Given the description of an element on the screen output the (x, y) to click on. 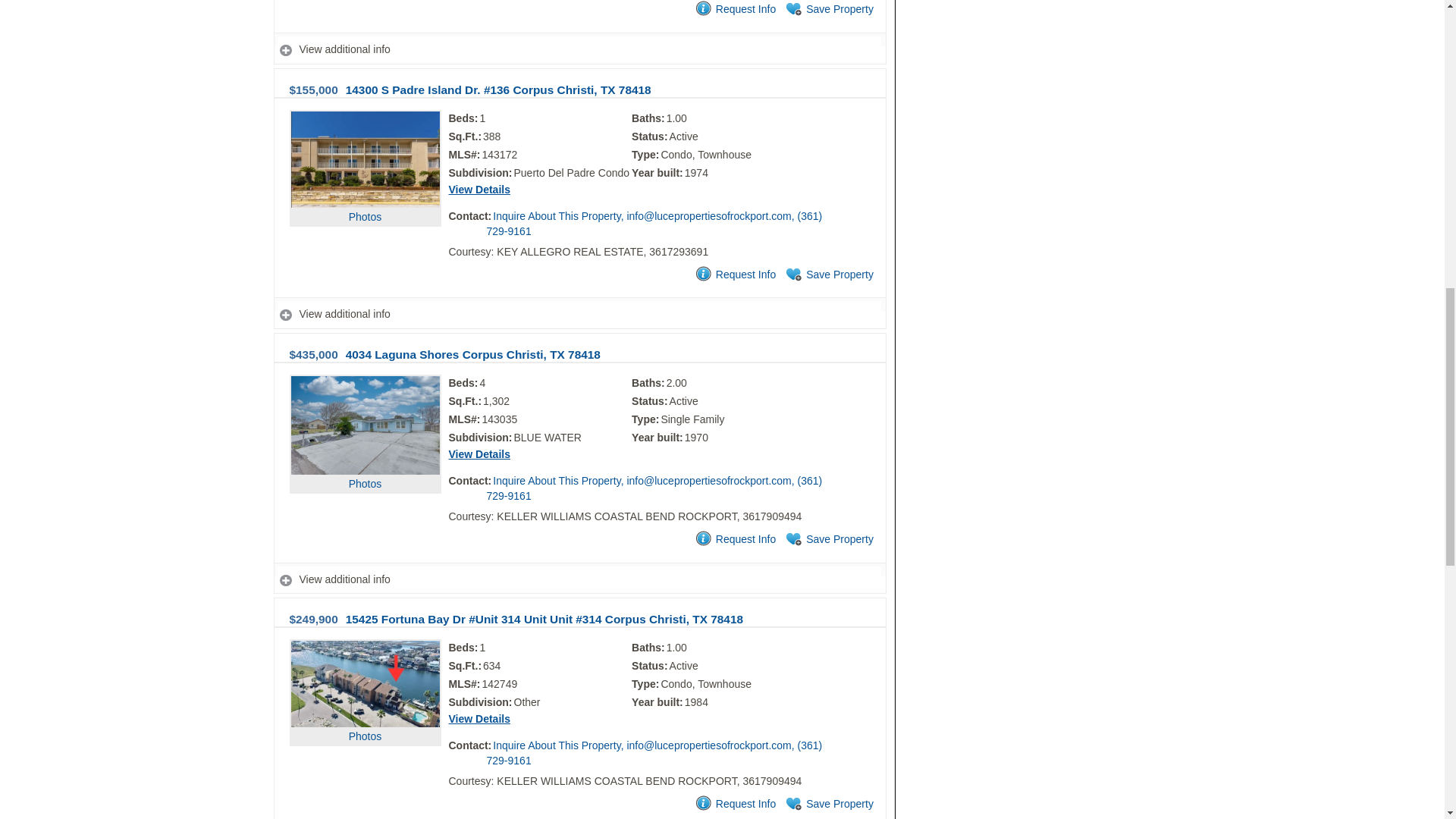
View property remarks and map (580, 579)
Save Property (828, 9)
View property remarks and map (580, 314)
Photos (365, 187)
Request Info (734, 9)
View Details (479, 189)
View property remarks and map (580, 49)
Save Property (828, 273)
Request Info (734, 273)
